Given the description of an element on the screen output the (x, y) to click on. 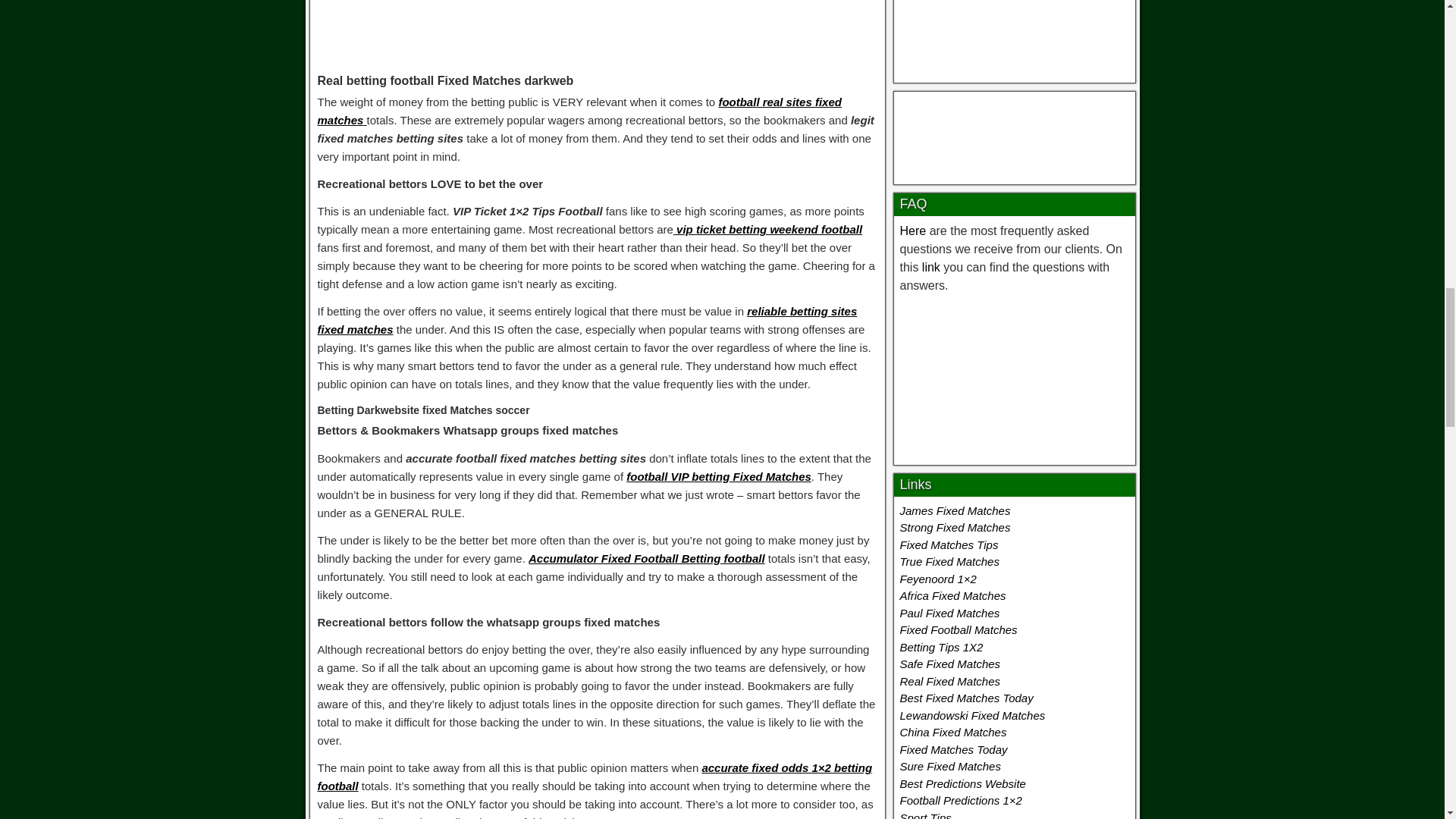
Accumulator Fixed Football Betting football (646, 558)
winning tips predictions sources (1013, 33)
ticket big odds betting (1013, 376)
WhatsApp Groups Fixed Matches (597, 27)
reliable betting sites fixed matches (587, 319)
handicap h2h fixed matches betting (1014, 134)
vip ticket betting weekend football (766, 228)
football real sites fixed matches (579, 110)
football VIP betting Fixed Matches (718, 476)
